Given the description of an element on the screen output the (x, y) to click on. 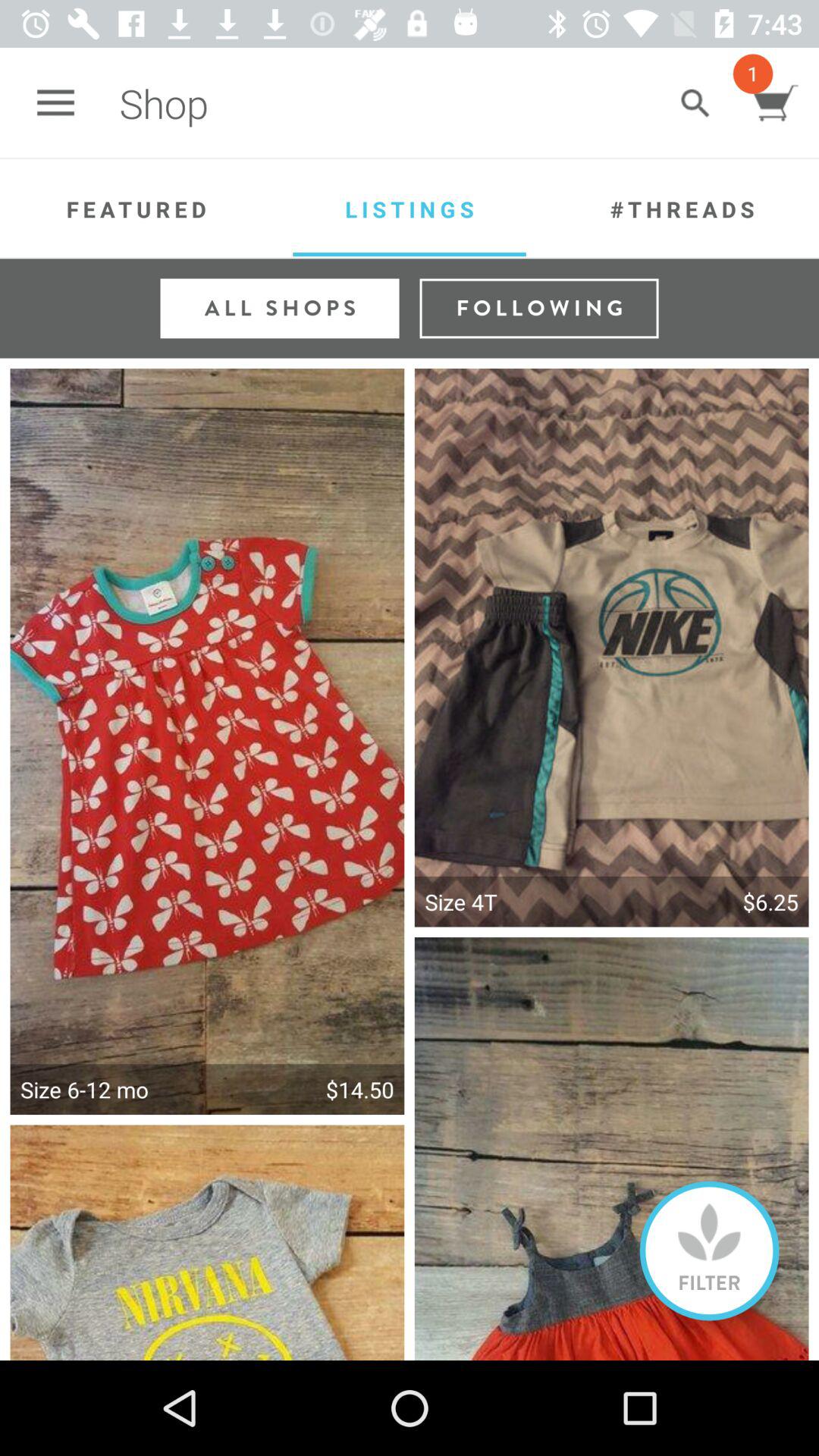
tap the app above featured (55, 103)
